Given the description of an element on the screen output the (x, y) to click on. 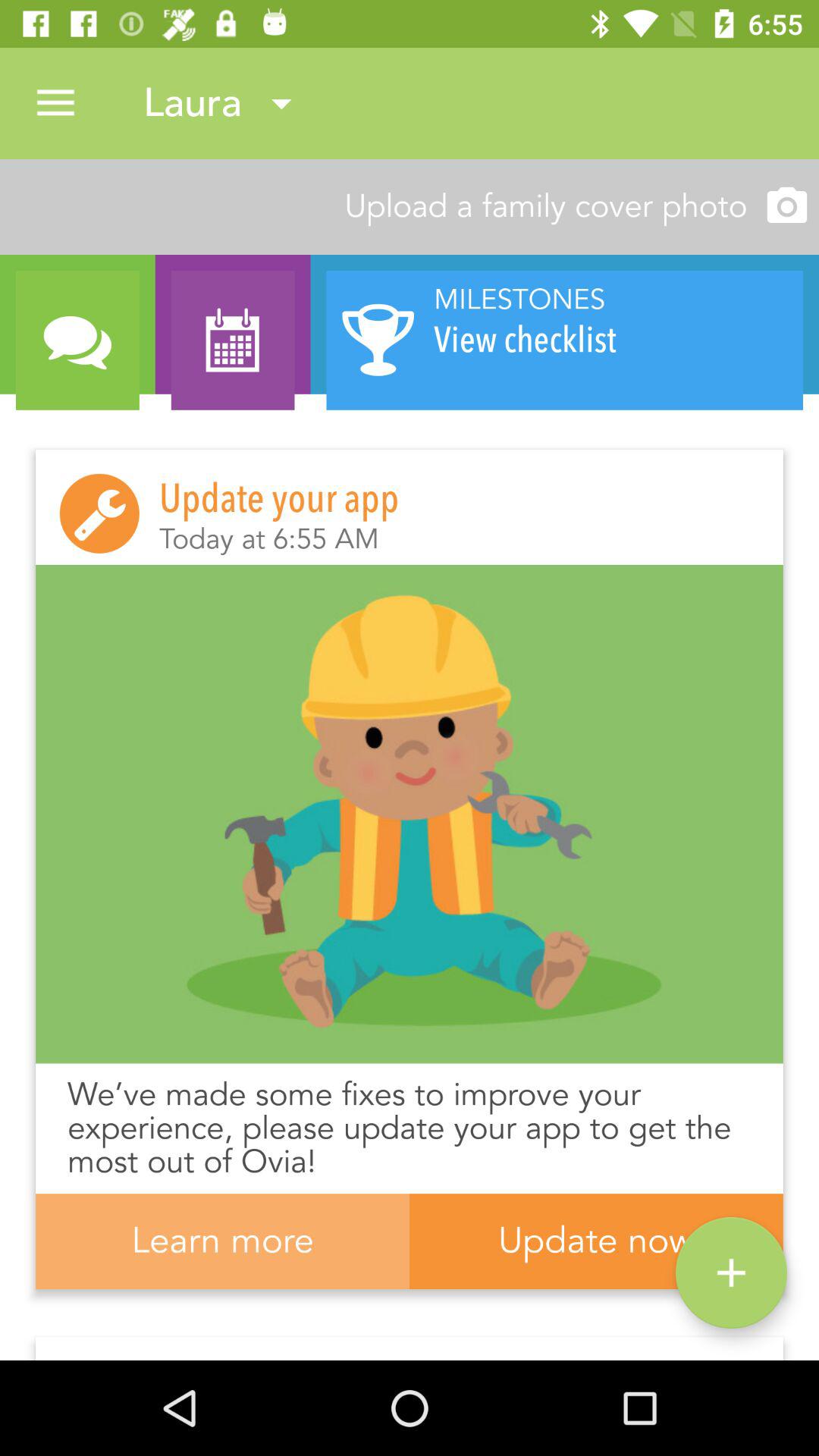
click the item above the we ve made item (409, 813)
